Given the description of an element on the screen output the (x, y) to click on. 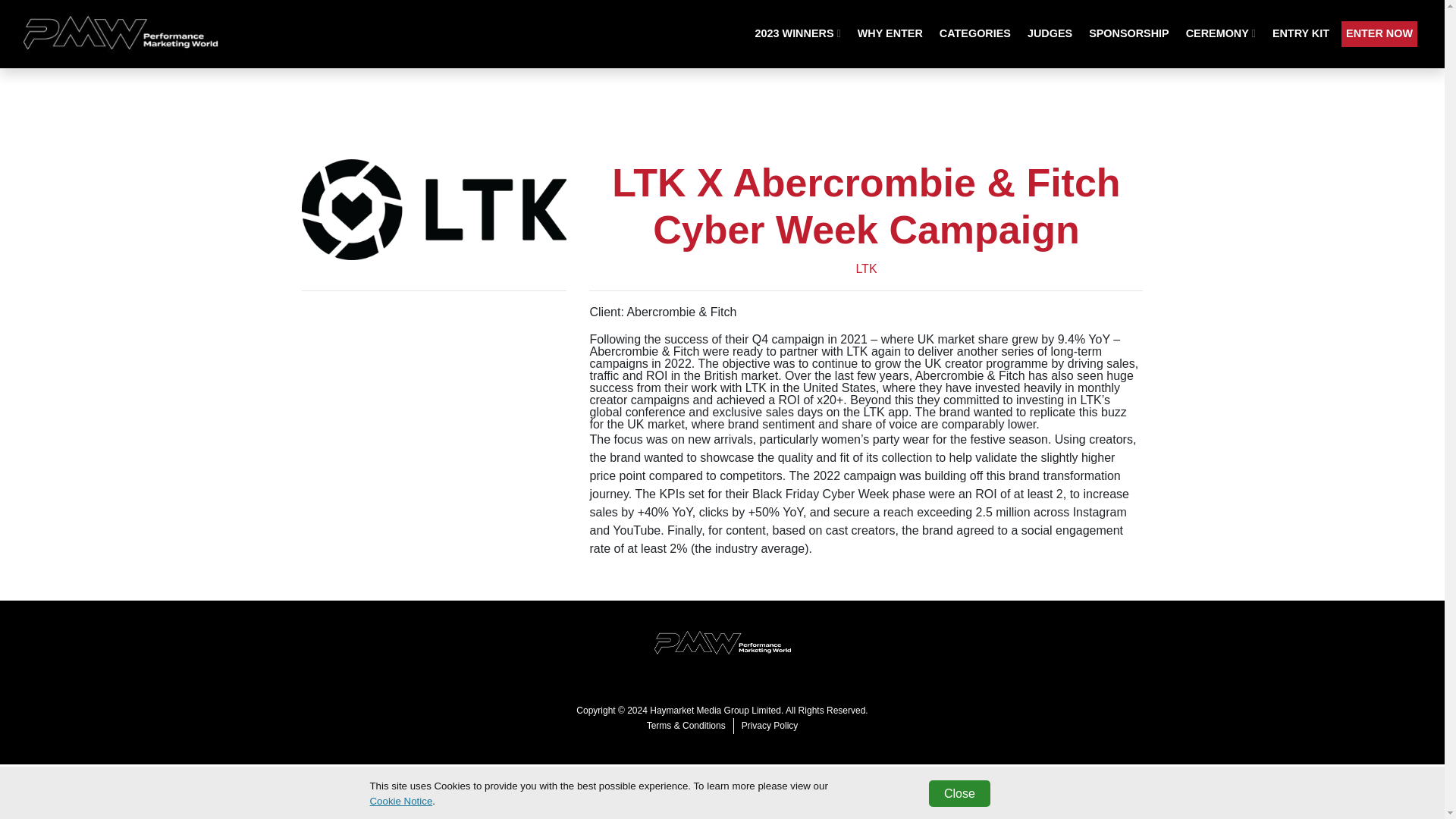
JUDGES (1050, 33)
WHY ENTER (890, 33)
Privacy Policy (769, 725)
Cookie Notice (400, 800)
ENTRY KIT (1300, 33)
2023 WINNERS (798, 33)
ENTER NOW (1378, 33)
SPONSORSHIP (1128, 33)
2023 WINNERS (798, 33)
ENTER NOW (1378, 33)
CEREMONY (1220, 33)
CEREMONY (1220, 33)
ENTRY KIT (1300, 33)
CATEGORIES (974, 33)
WHY ENTER (890, 33)
